Given the description of an element on the screen output the (x, y) to click on. 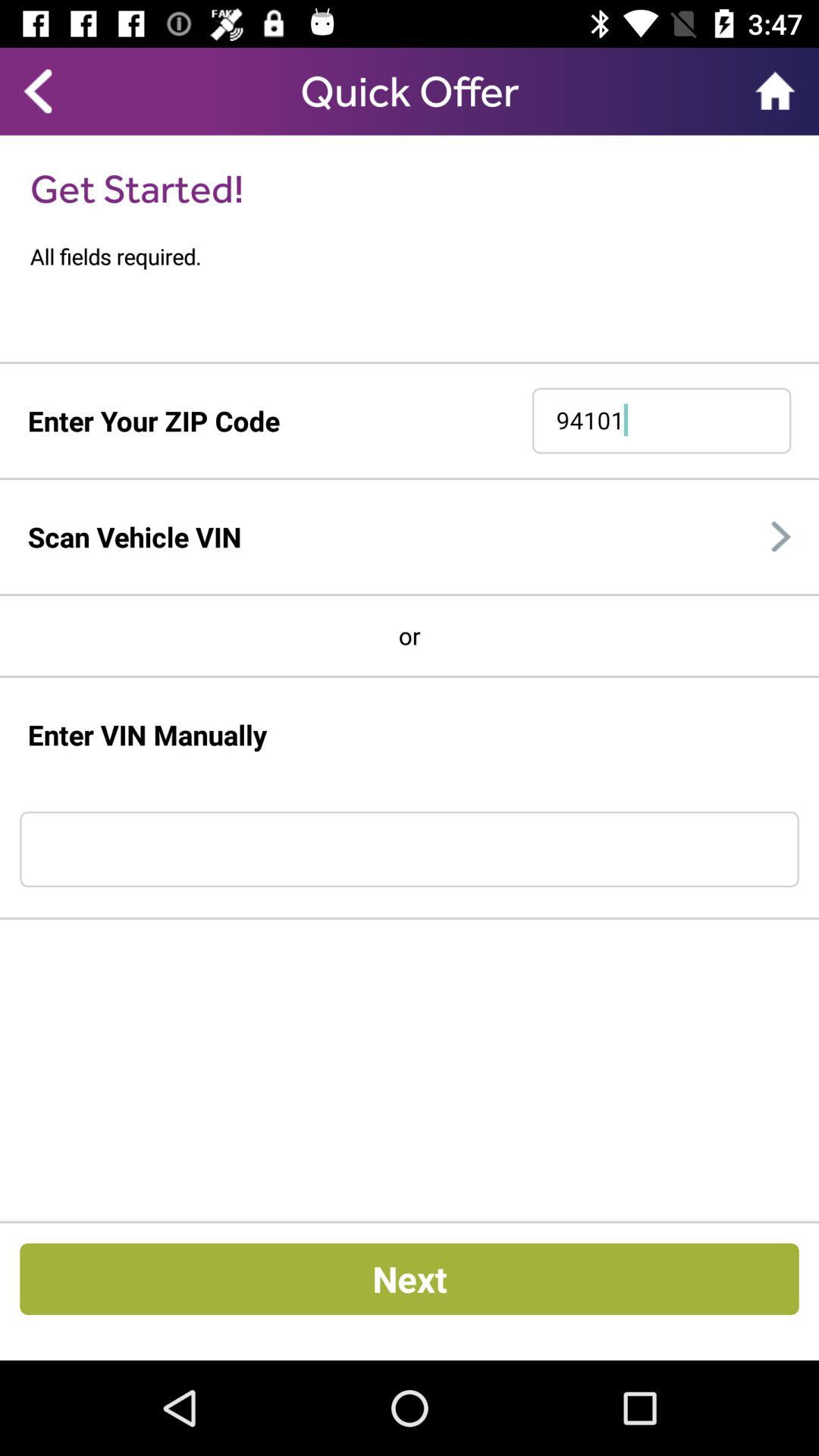
open the item above all fields required. (136, 188)
